Given the description of an element on the screen output the (x, y) to click on. 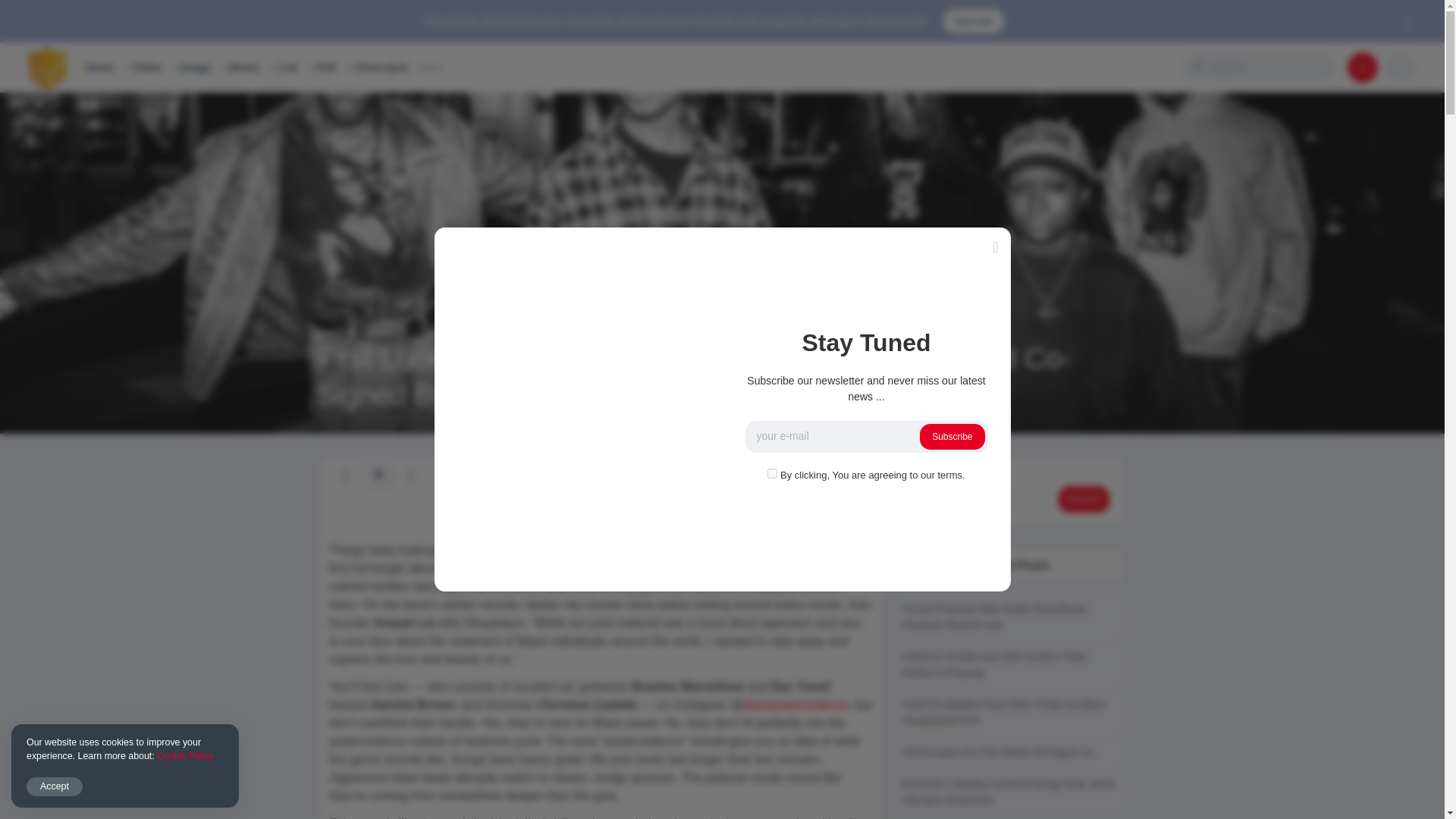
buy now (973, 21)
Music (241, 67)
Image (191, 67)
on (772, 473)
Poll (323, 67)
Search for: (1269, 67)
Trivia Quiz (378, 67)
News (96, 67)
List (285, 67)
Video (144, 67)
